Given the description of an element on the screen output the (x, y) to click on. 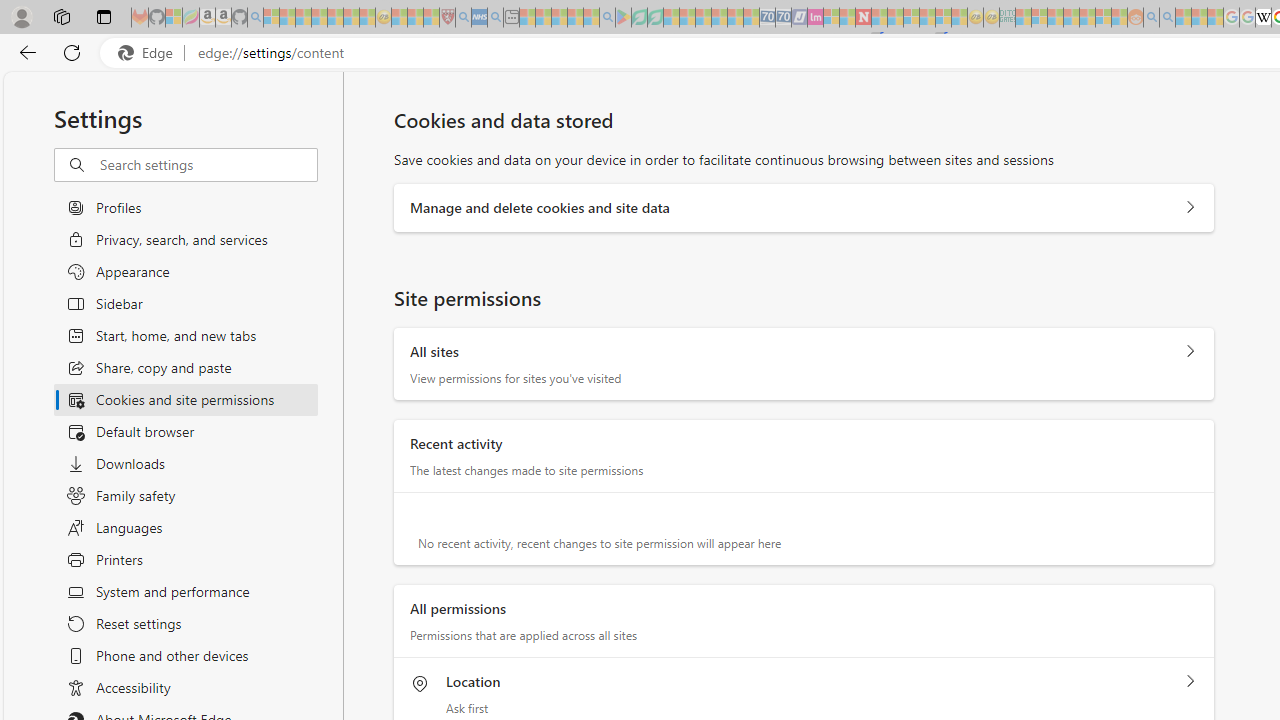
14 Common Myths Debunked By Scientific Facts - Sleeping (895, 17)
Jobs - lastminute.com Investor Portal - Sleeping (815, 17)
Location (1190, 681)
Expert Portfolios - Sleeping (1071, 17)
Bluey: Let's Play! - Apps on Google Play - Sleeping (623, 17)
Latest Politics News & Archive | Newsweek.com - Sleeping (863, 17)
